Given the description of an element on the screen output the (x, y) to click on. 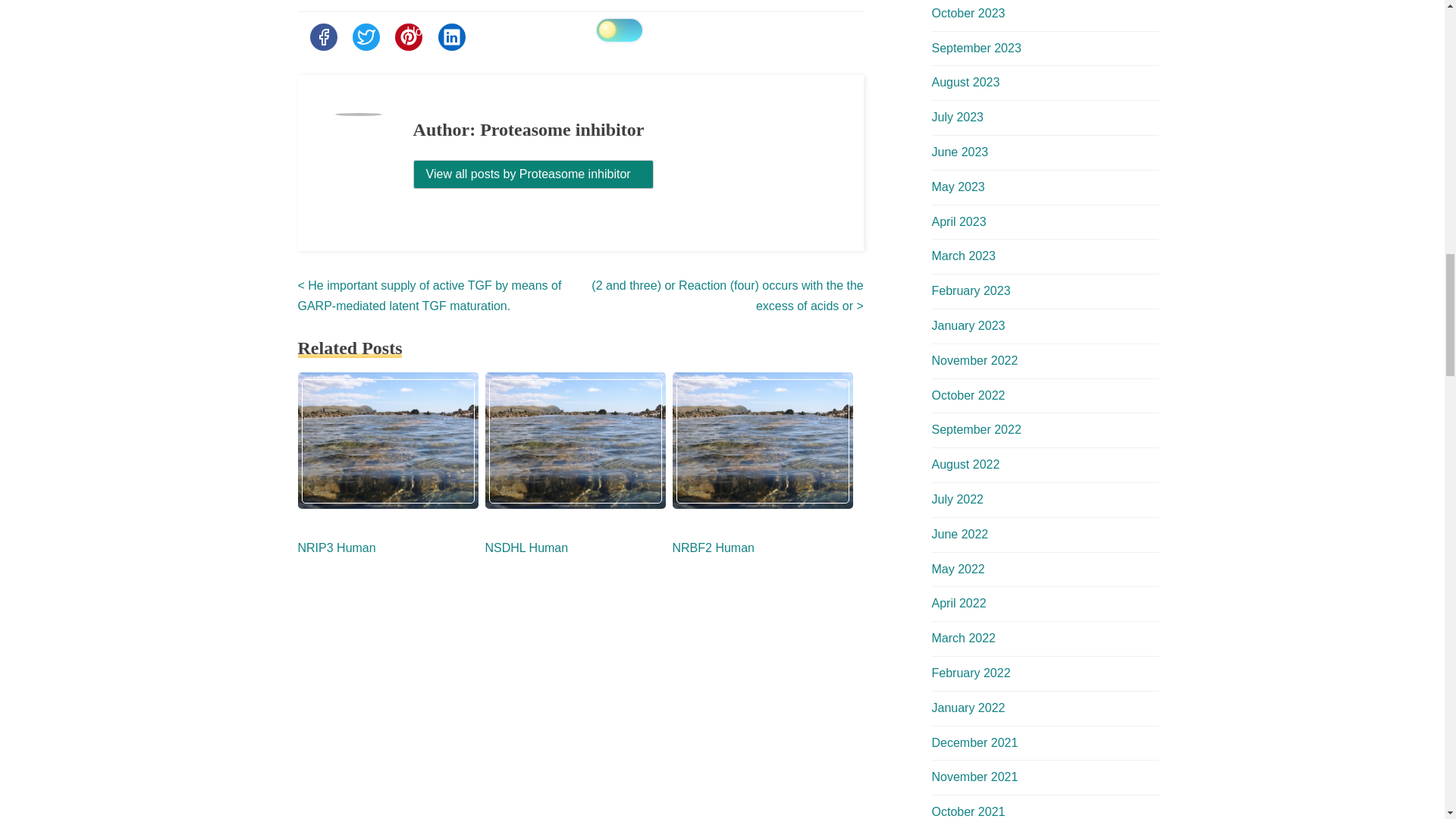
Share this post on Twitter (366, 36)
Share this post on Linkedin (451, 36)
View all posts by Proteasome inhibitor (534, 173)
Share this post on Pinterest (408, 36)
NRBF2 Human (712, 547)
Share this post on Facebook (322, 36)
NRIP3 Human (336, 547)
NSDHL Human (526, 547)
View all posts by Proteasome inhibitor (533, 173)
